Given the description of an element on the screen output the (x, y) to click on. 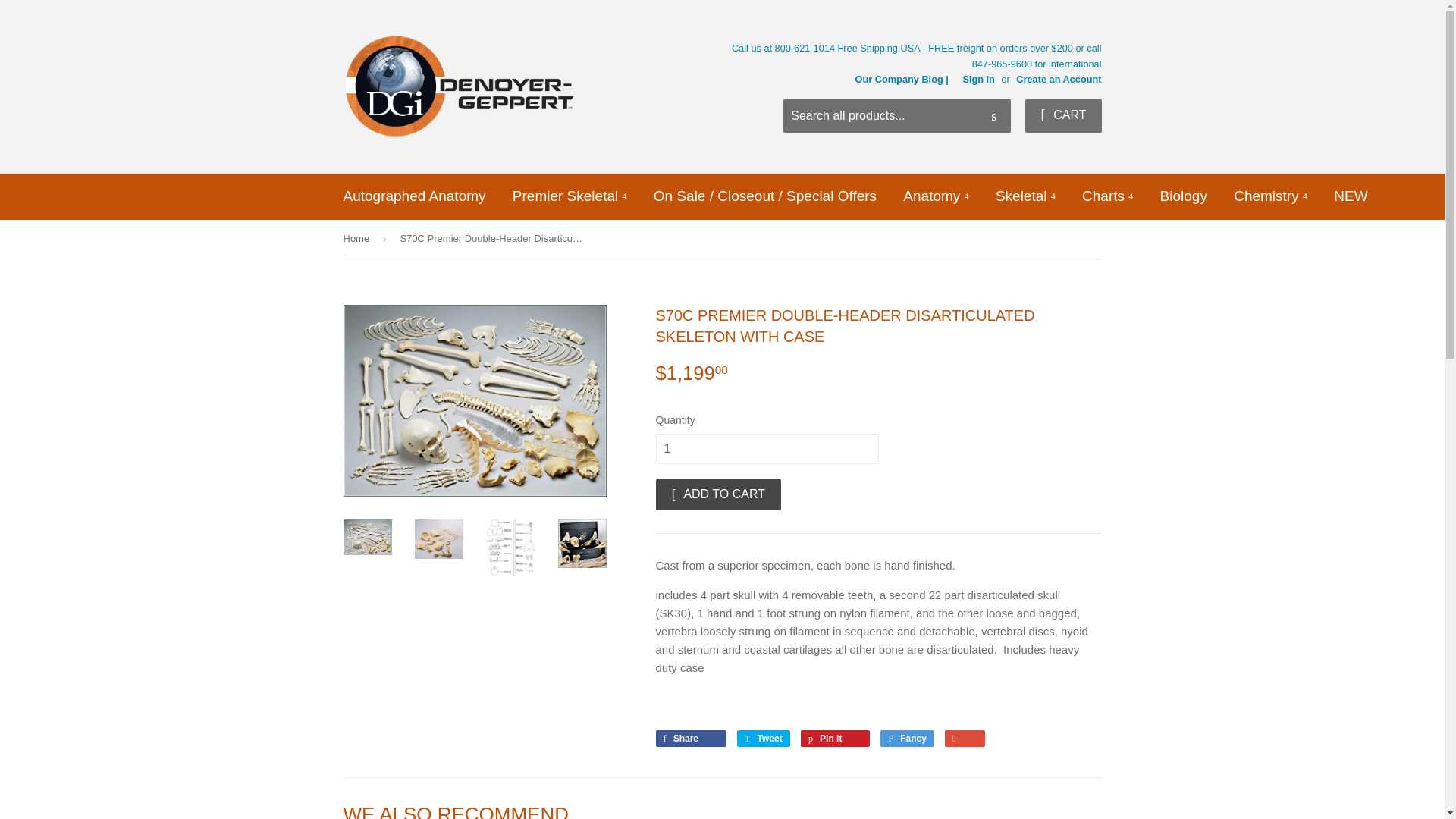
Charts (1107, 196)
1 (766, 449)
Premier Skeletal (569, 196)
Search (993, 116)
Biology (1183, 196)
Skeletal (1025, 196)
Autographed Anatomy (414, 196)
Create an Account (1058, 79)
CART (1062, 115)
Chemistry (1271, 196)
